Given the description of an element on the screen output the (x, y) to click on. 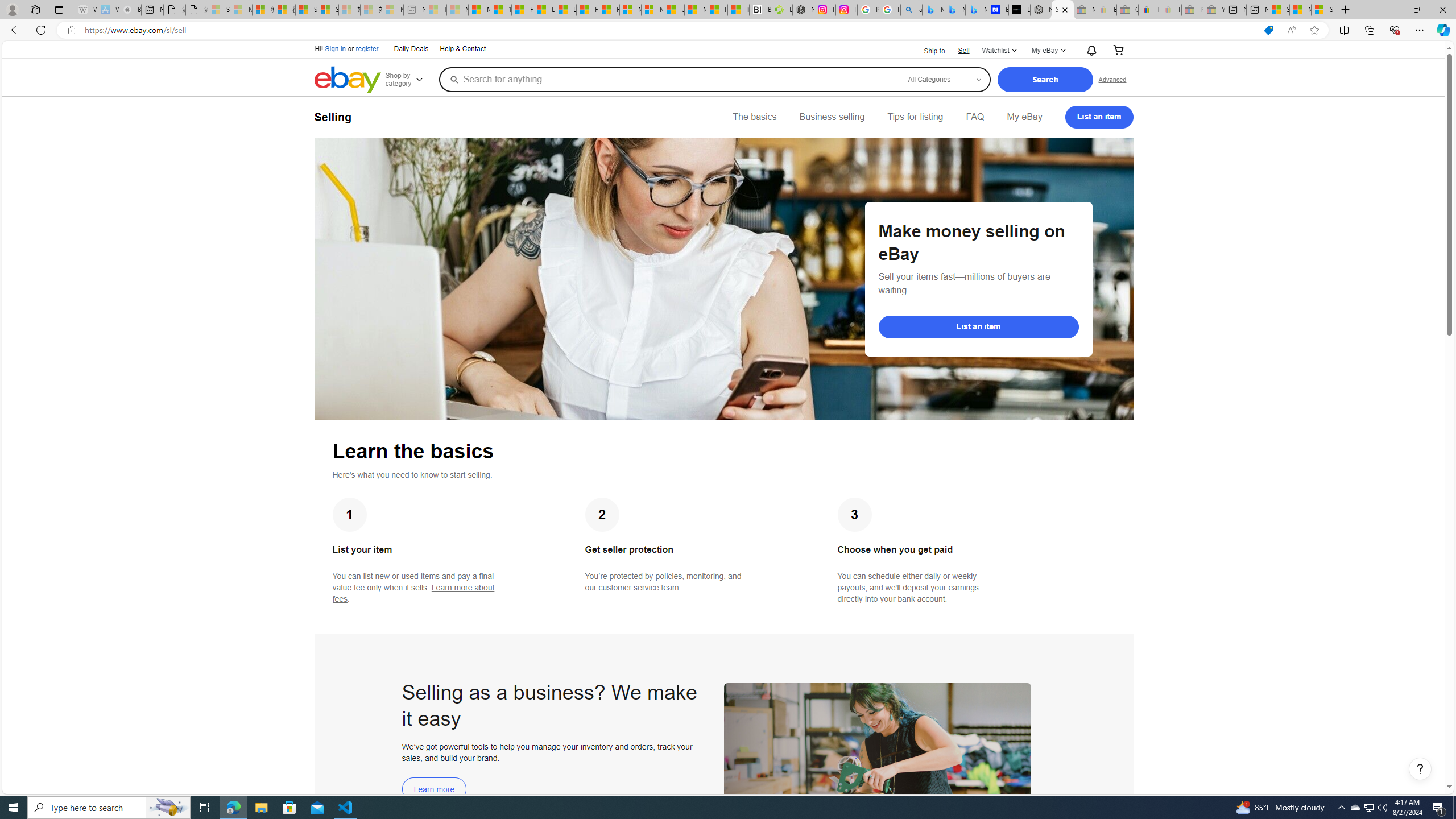
Sign in to your Microsoft account (1322, 9)
Wikipedia - Sleeping (85, 9)
Shanghai, China hourly forecast | Microsoft Weather (1278, 9)
Nordace - Nordace Edin Collection (802, 9)
Microsoft Services Agreement - Sleeping (241, 9)
Marine life - MSN - Sleeping (457, 9)
List an item (1099, 116)
FAQ (974, 116)
Payments Terms of Use | eBay.com - Sleeping (1170, 9)
